Given the description of an element on the screen output the (x, y) to click on. 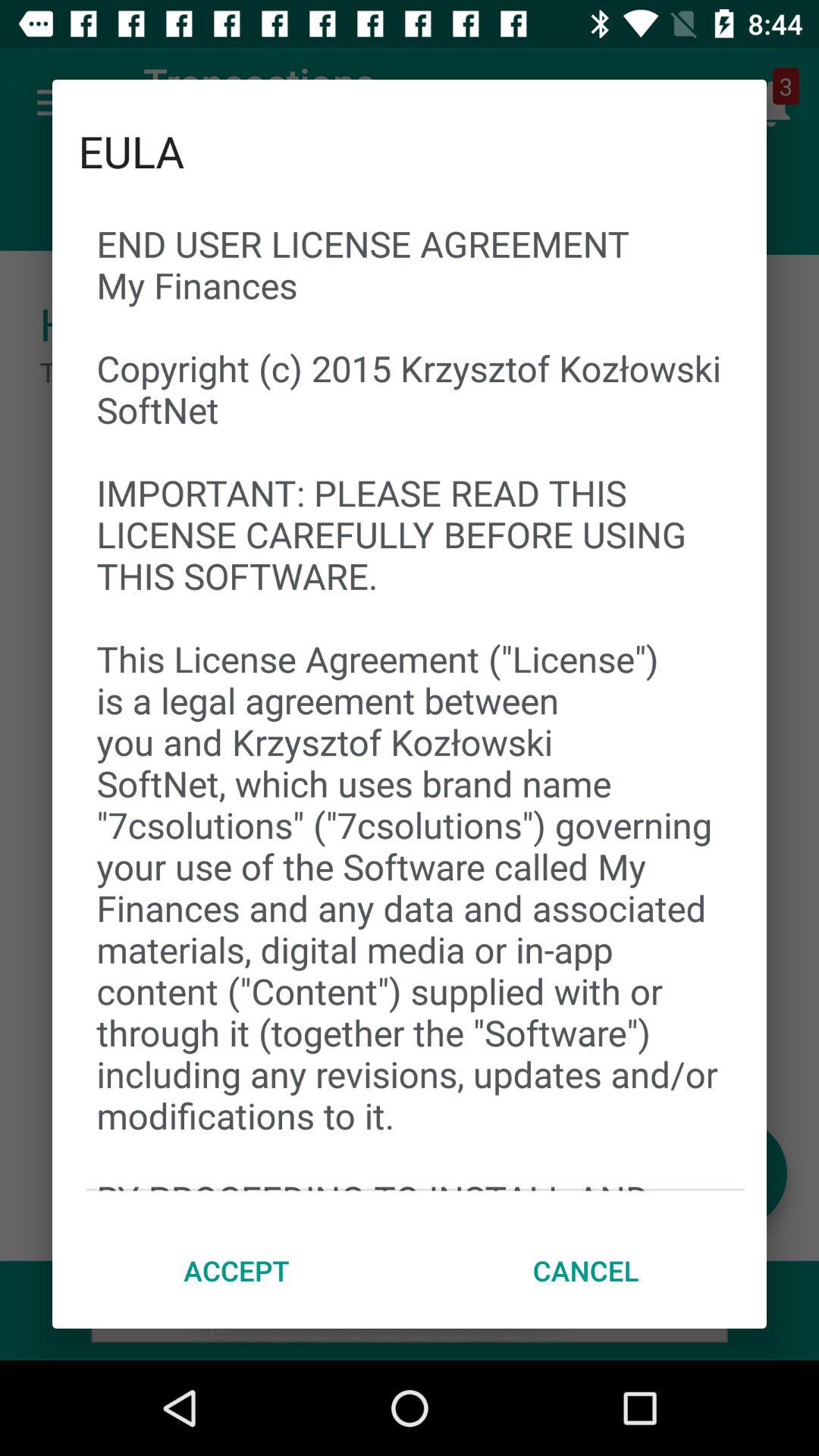
select icon next to accept (585, 1270)
